Given the description of an element on the screen output the (x, y) to click on. 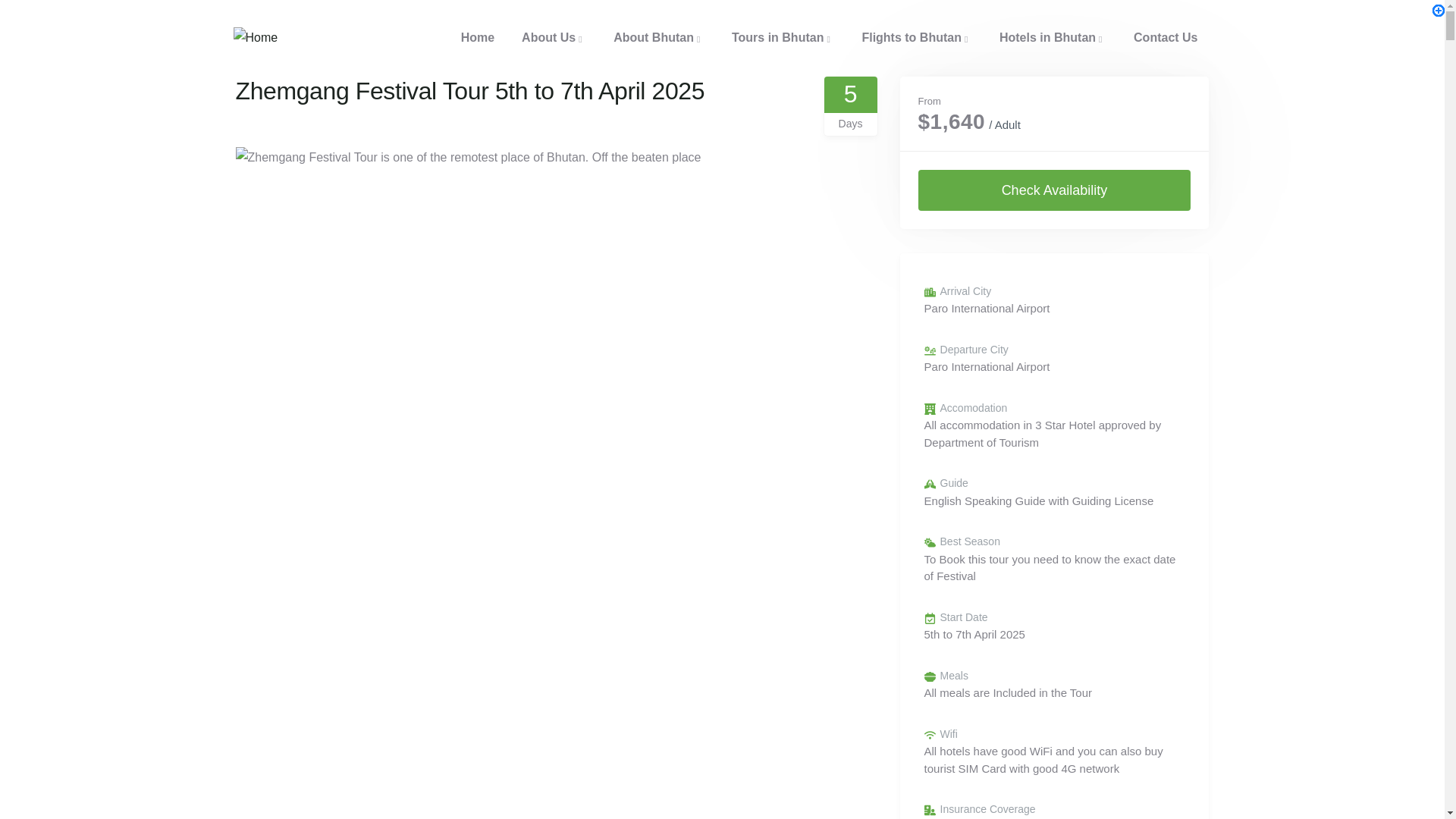
About Us (553, 38)
Tours in Bhutan (782, 38)
About Bhutan (658, 38)
Contact Us (1165, 38)
Hotels in Bhutan (1052, 38)
Home (255, 38)
Flights to Bhutan (916, 38)
